Given the description of an element on the screen output the (x, y) to click on. 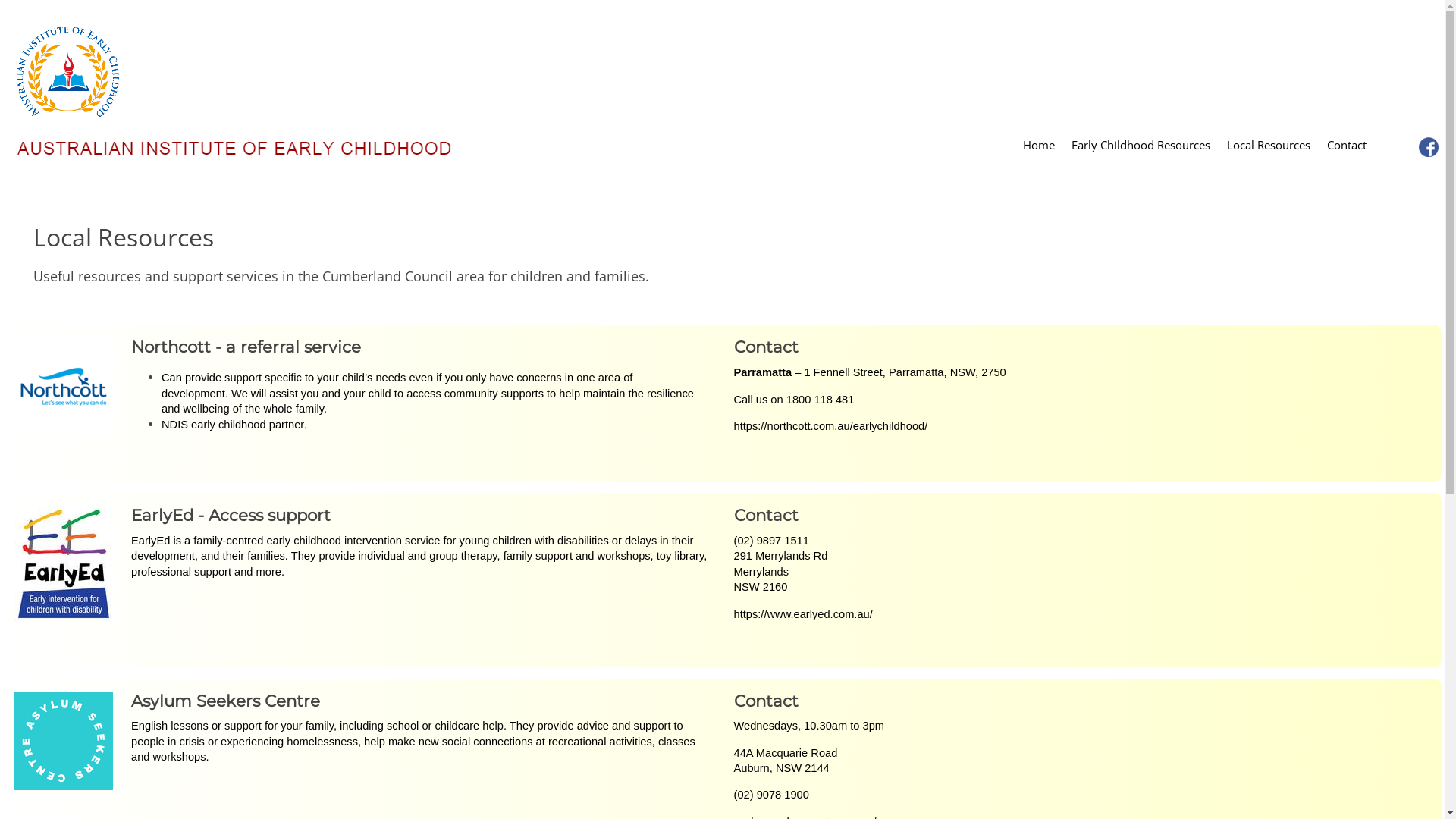
Contact Element type: text (1346, 146)
(02) 9897 1511 Element type: text (771, 540)
Home Element type: text (1038, 146)
NDIS early childhood partner Element type: text (232, 424)
https://northcott.com.au/earlychildhood/ Element type: text (831, 426)
https://www.earlyed.com.au/ Element type: text (803, 614)
(02) 9078 1900 Element type: text (771, 794)
Wednesdays, 10.30am to 3pm Element type: text (809, 725)
Local Resources Element type: text (1268, 146)
Call us on 1800 118 481 Element type: text (794, 399)
Early Childhood Resources Element type: text (1140, 146)
44A Macquarie Road
Auburn, NSW 2144 Element type: text (785, 760)
291 Merrylands Rd
Merrylands
NSW 2160 Element type: text (781, 571)
